Given the description of an element on the screen output the (x, y) to click on. 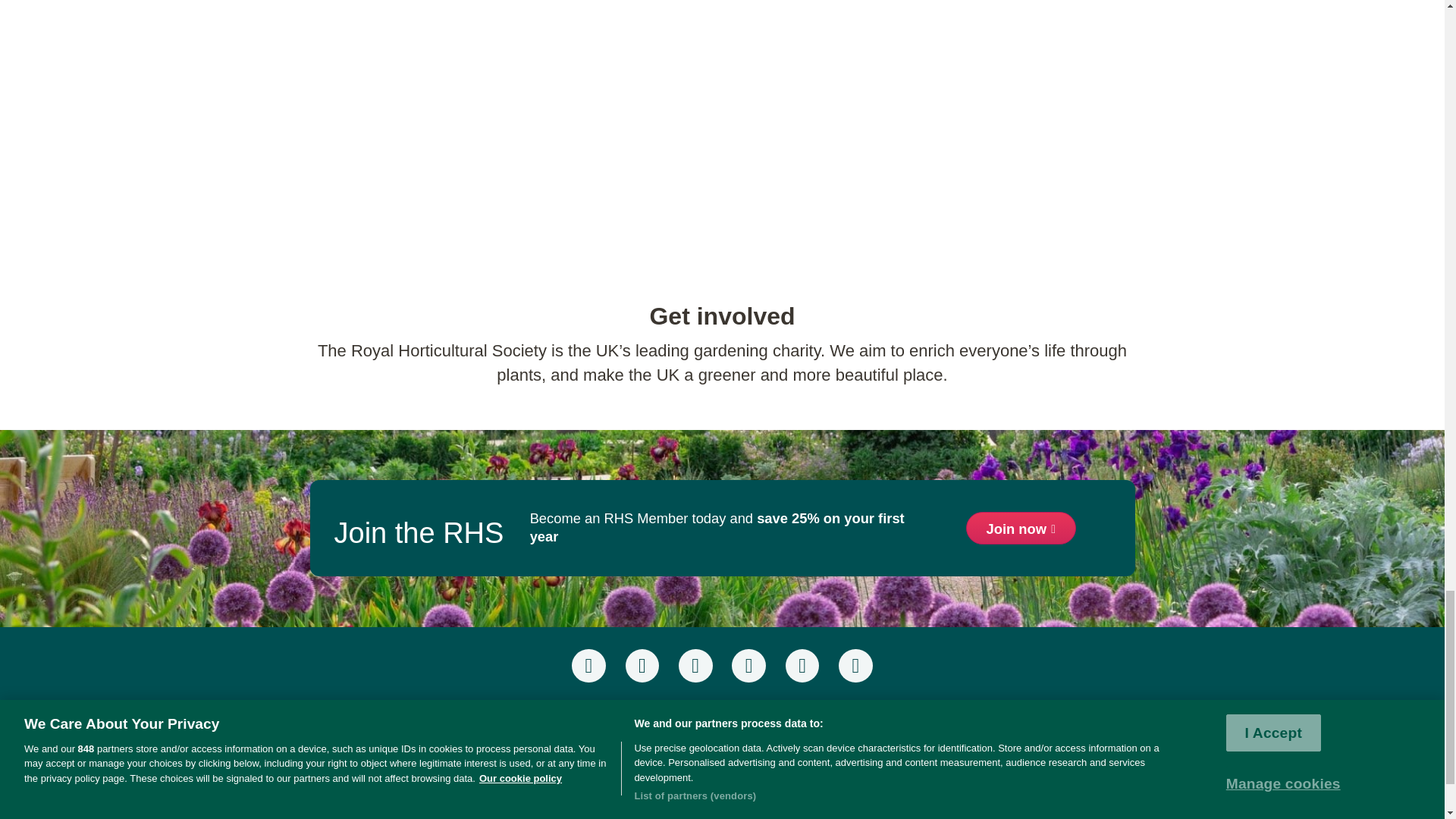
3rd party ad content (721, 803)
